Given the description of an element on the screen output the (x, y) to click on. 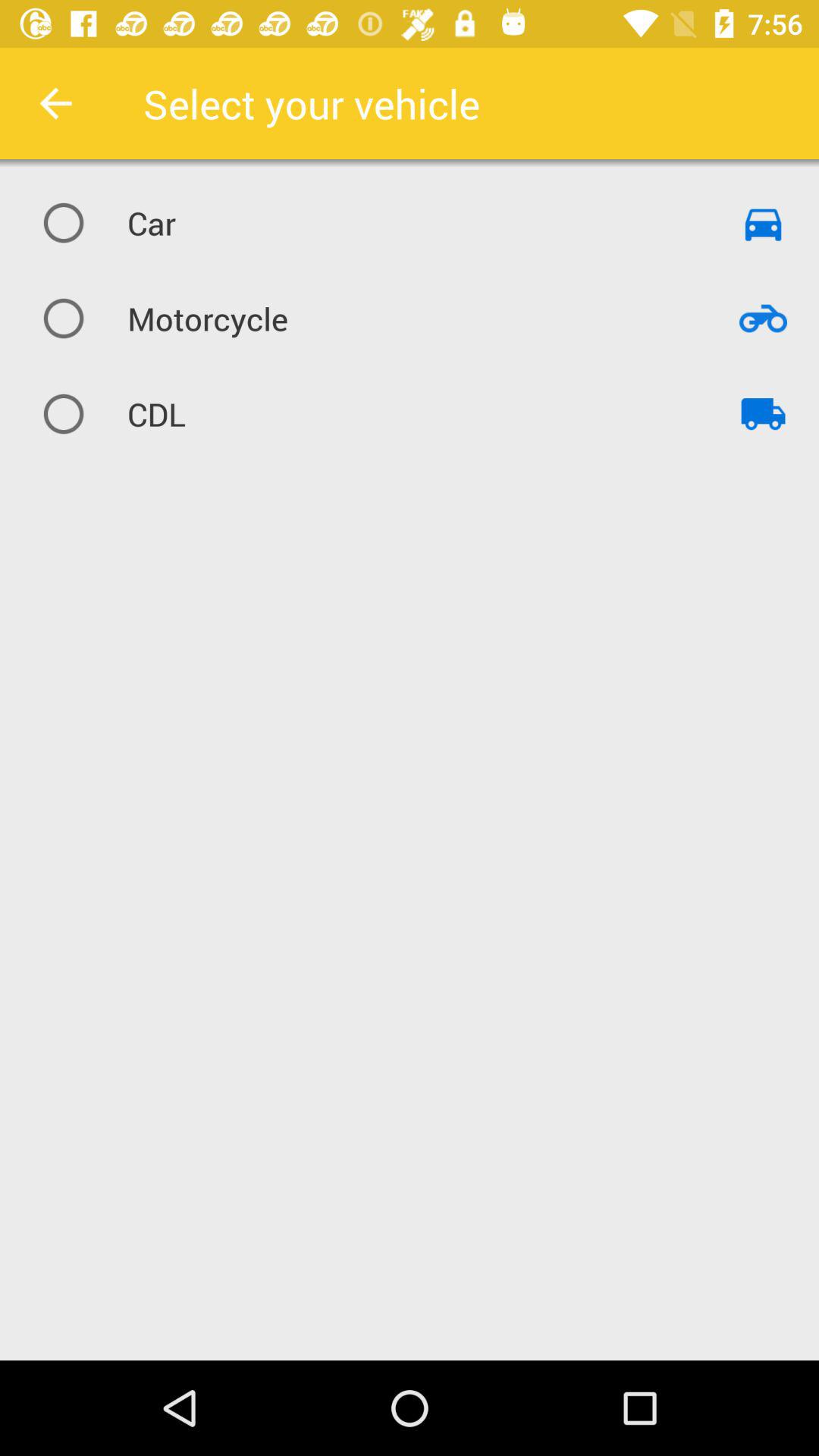
tap item next to the select your vehicle icon (55, 103)
